Given the description of an element on the screen output the (x, y) to click on. 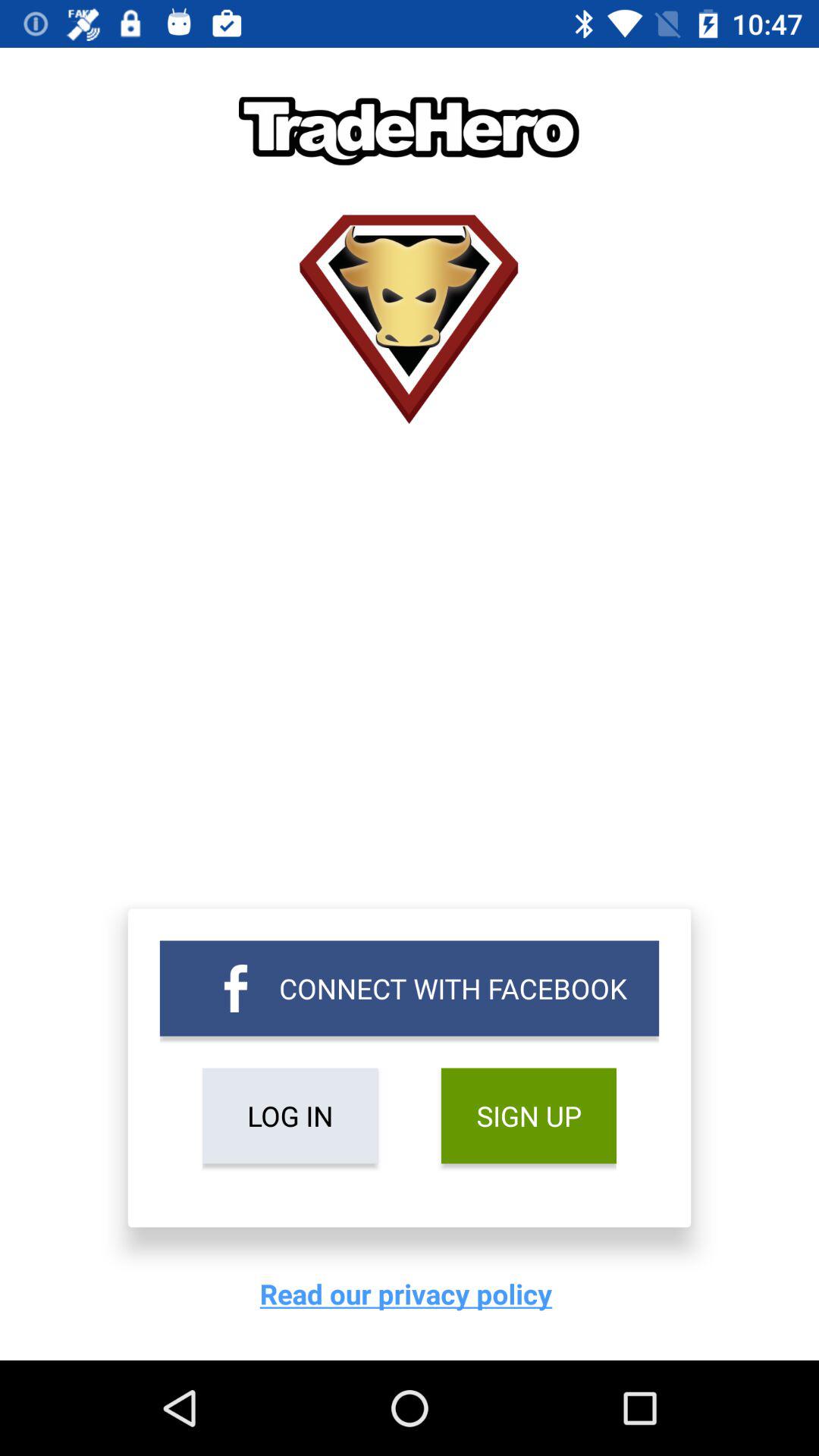
choose item to the right of the log in icon (528, 1115)
